Given the description of an element on the screen output the (x, y) to click on. 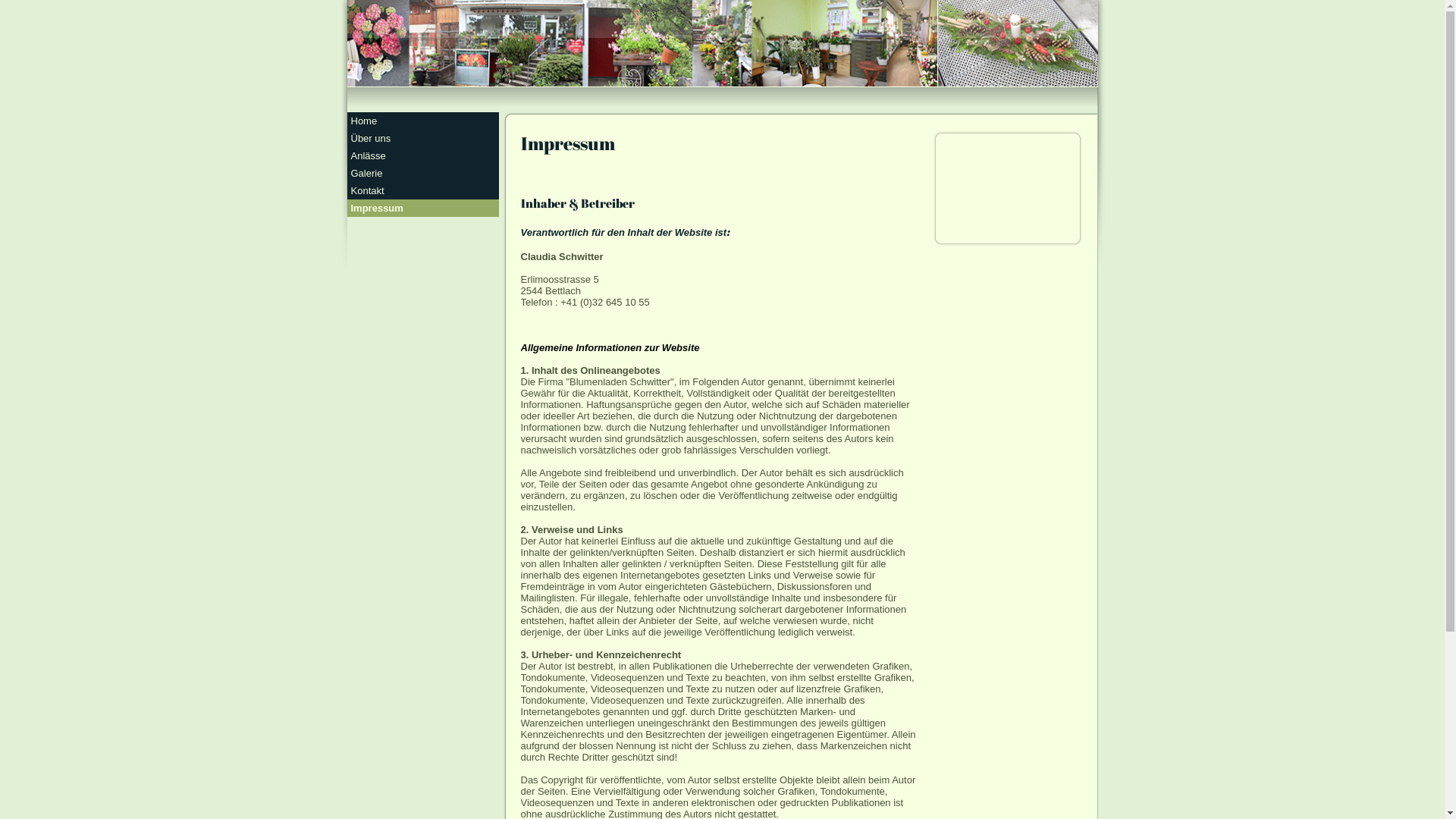
Galerie Element type: text (422, 173)
Home Element type: text (422, 120)
Kontakt Element type: text (422, 190)
Impressum Element type: text (422, 207)
